Given the description of an element on the screen output the (x, y) to click on. 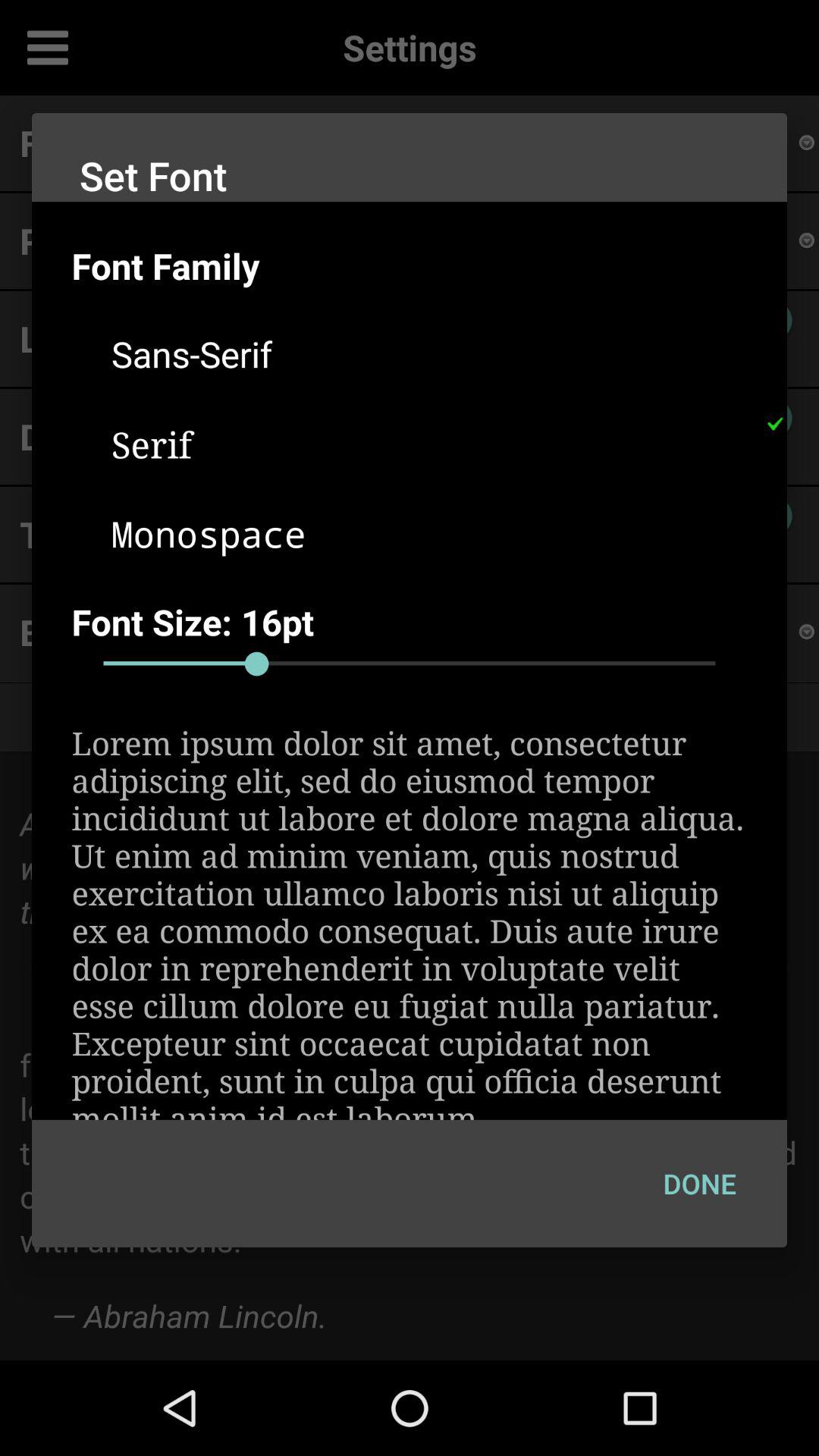
adjust font size (409, 663)
